Given the description of an element on the screen output the (x, y) to click on. 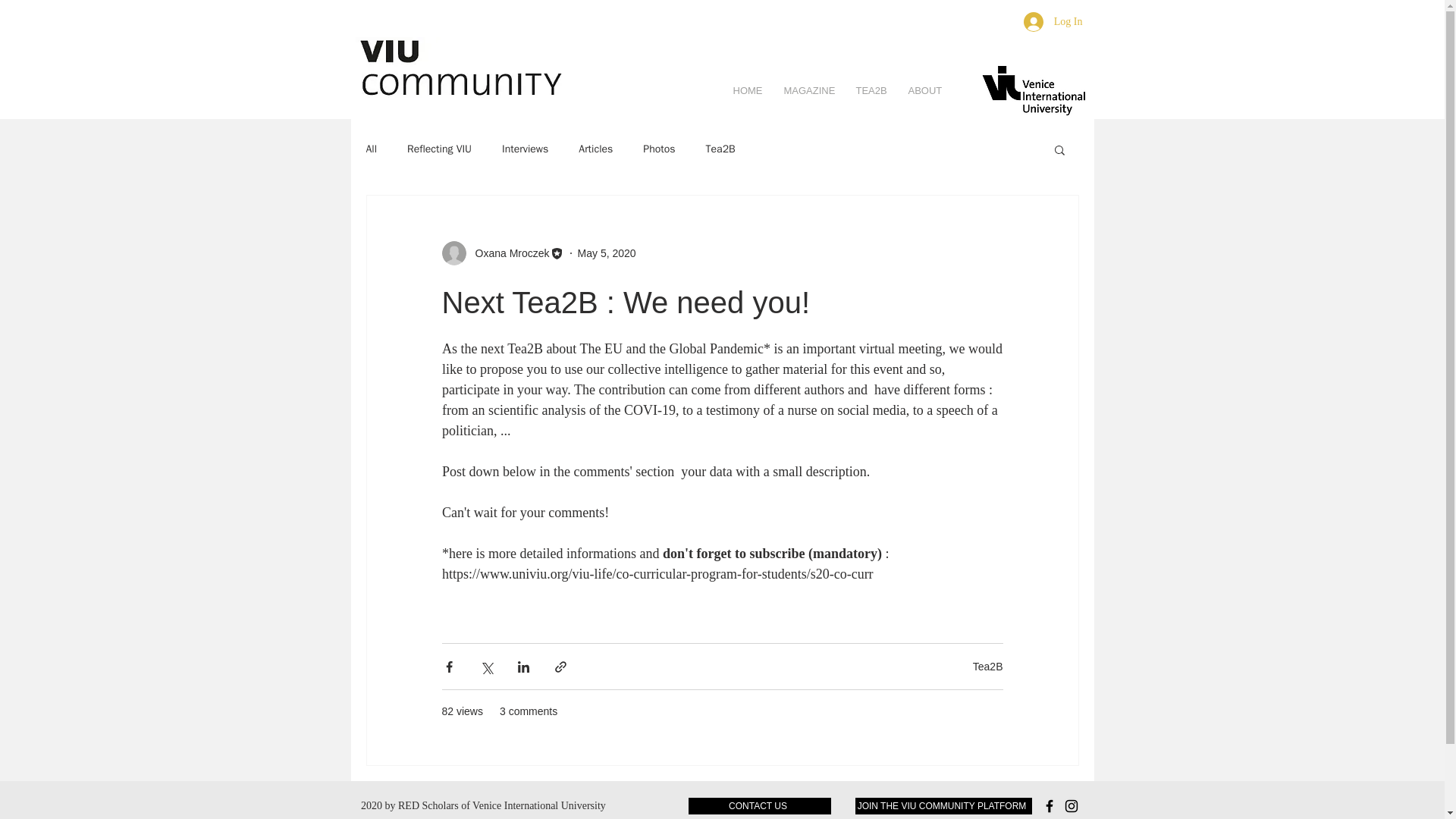
Tea2B (720, 149)
Oxana Mroczek (506, 253)
Photos (659, 149)
Reflecting VIU (439, 149)
CONTACT US (759, 805)
JOIN THE VIU COMMUNITY PLATFORM (944, 805)
Interviews (525, 149)
May 5, 2020 (607, 253)
Oxana Mroczek (502, 252)
MAGAZINE (807, 90)
Articles (595, 149)
TEA2B (870, 90)
ABOUT (924, 90)
Tea2B (987, 665)
HOME (747, 90)
